Given the description of an element on the screen output the (x, y) to click on. 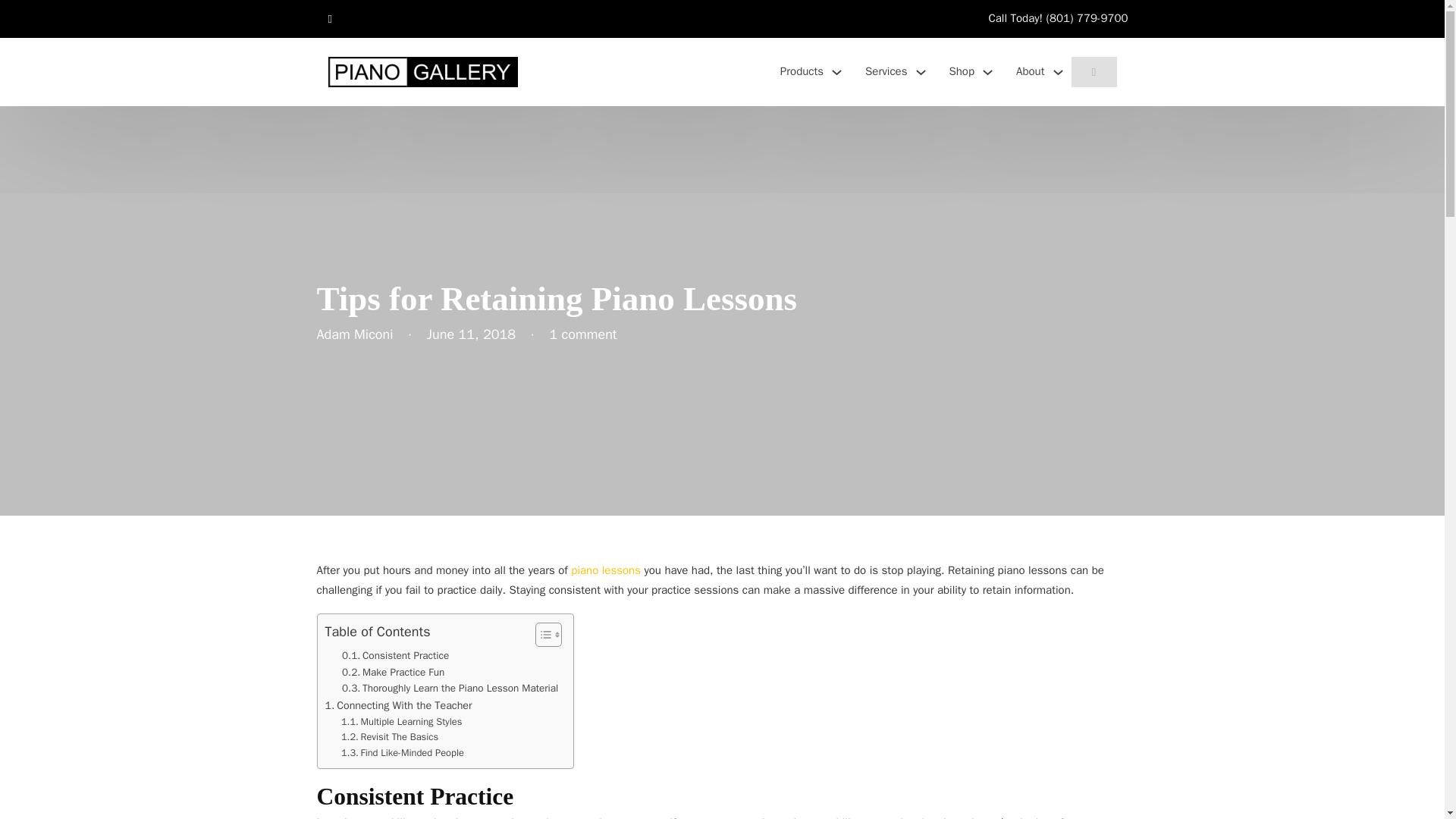
Connecting With the Teacher (397, 705)
Find Like-Minded People (402, 753)
Make Practice Fun (393, 672)
Revisit The Basics (389, 737)
Products (802, 71)
Shop (962, 71)
Multiple Learning Styles (400, 722)
Services (885, 71)
Consistent Practice (395, 655)
Thoroughly Learn the Piano Lesson Material (449, 688)
About (1029, 71)
